Given the description of an element on the screen output the (x, y) to click on. 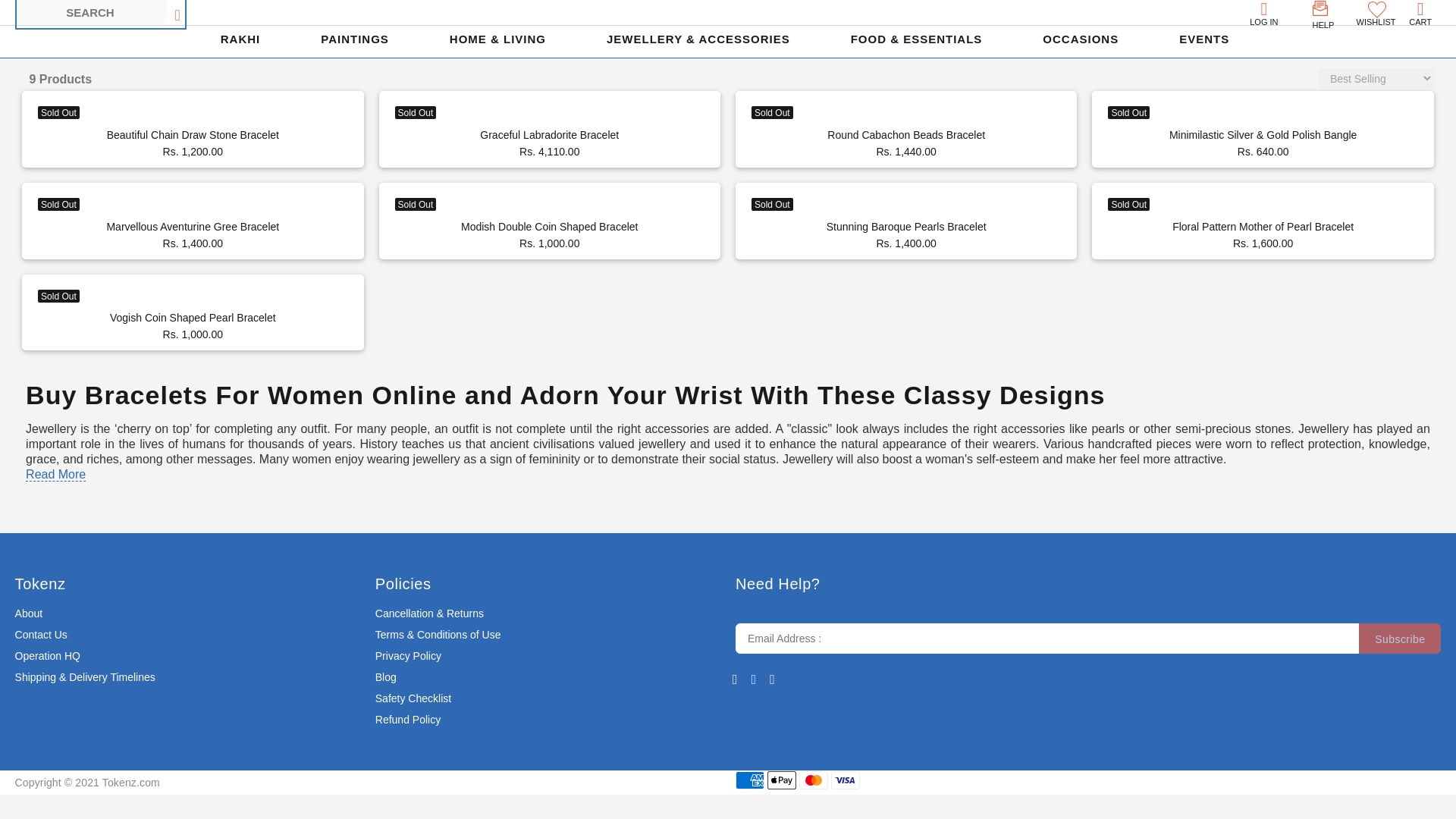
Visa (845, 780)
Mastercard (813, 780)
American Express (749, 780)
Apple Pay (781, 780)
